Given the description of an element on the screen output the (x, y) to click on. 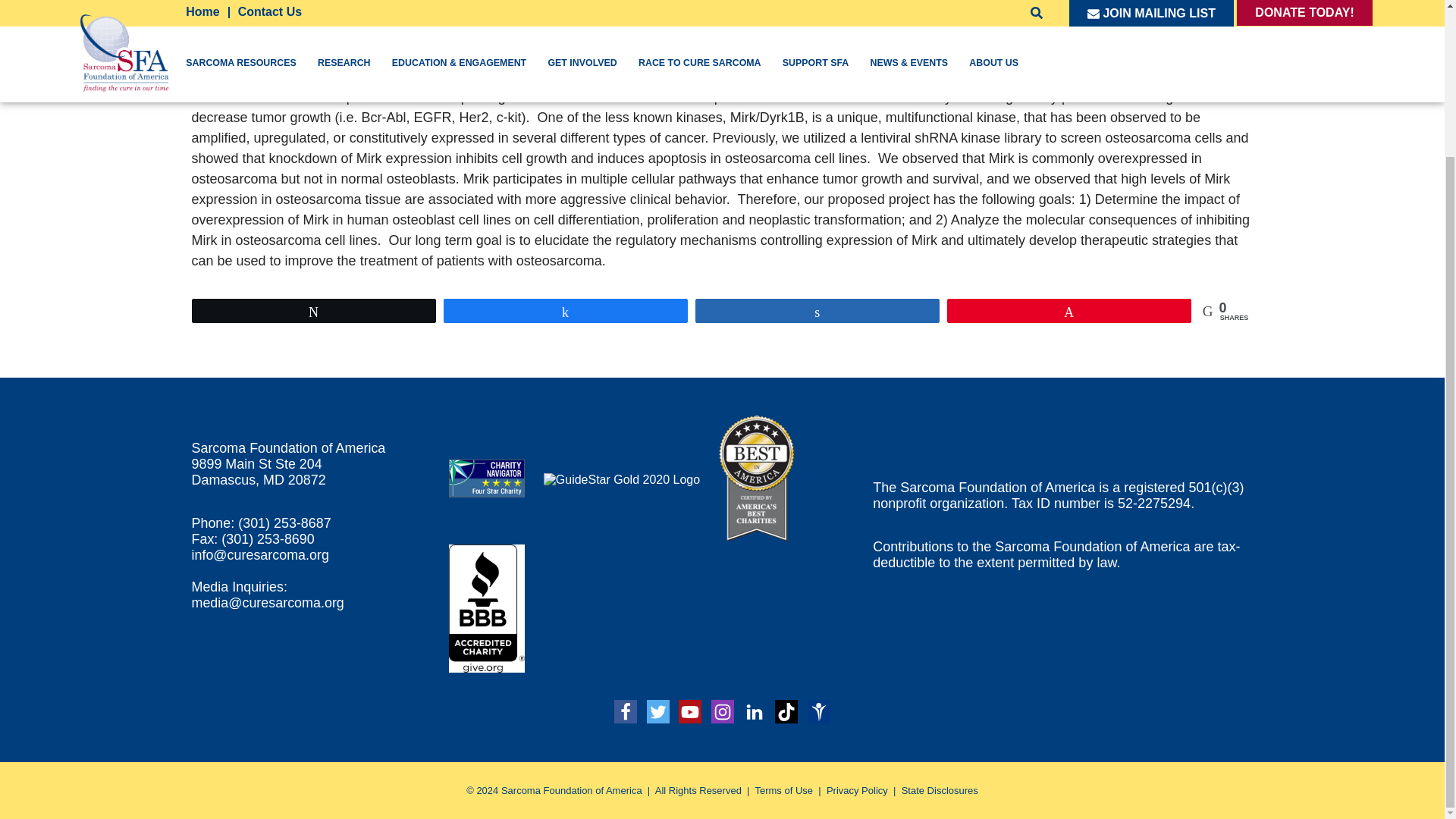
Follow Sarcoma Foundation of America on Instagram (722, 711)
Follow Sarcoma Foundation of America on Twitter (657, 711)
Connect with Sarcoma Foundation of America on TikTok (785, 711)
Subscribe to Sarcoma Foundation of America on YouTube (689, 711)
Connect with Sarcoma Foundation of America on Inspire (818, 711)
Like Sarcoma Foundation of America on Facebook (625, 711)
Follow Sarcoma Foundation of America on LinkedIn (753, 711)
